Given the description of an element on the screen output the (x, y) to click on. 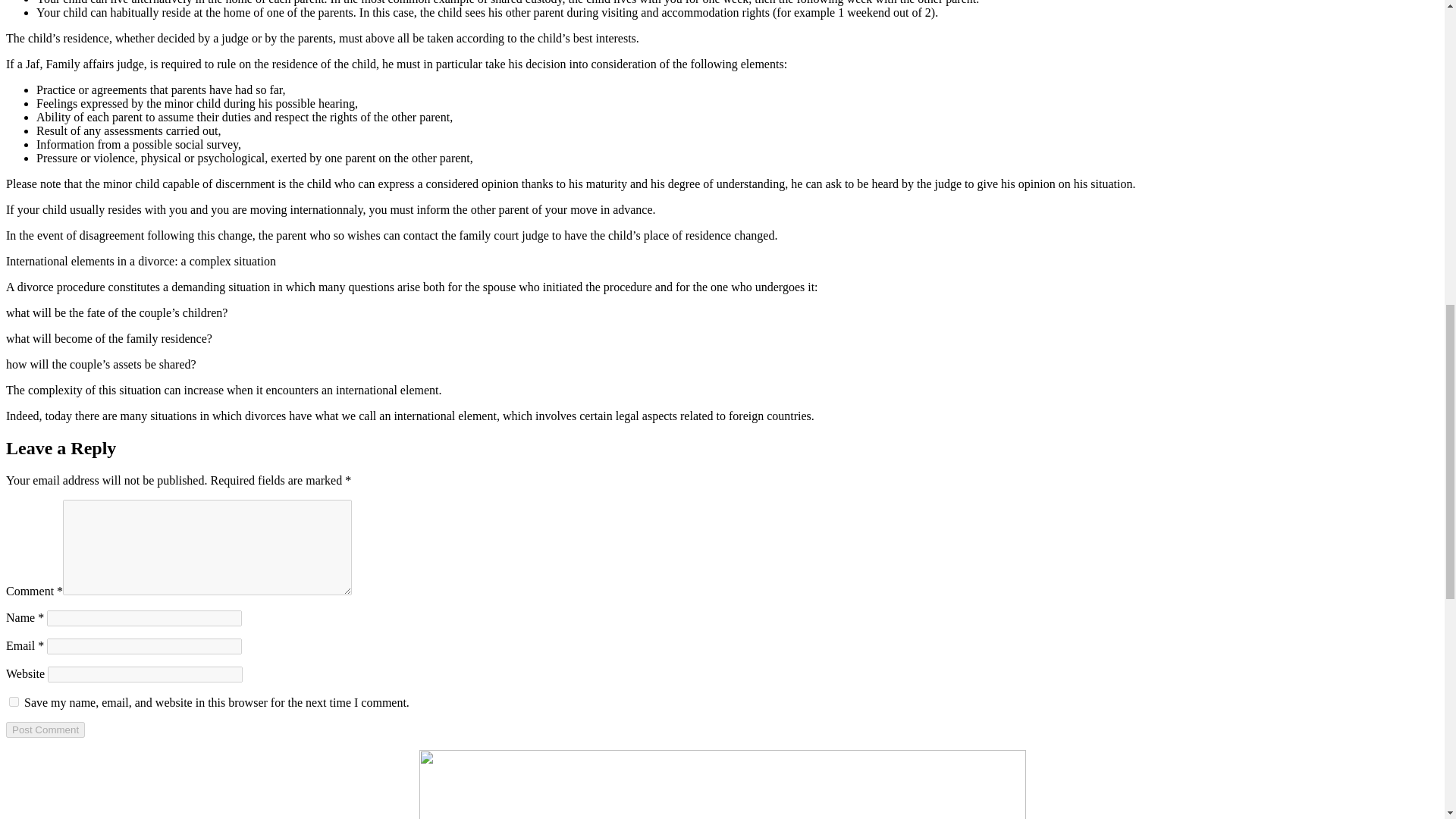
Post Comment (44, 729)
yes (13, 701)
Post Comment (44, 729)
